Given the description of an element on the screen output the (x, y) to click on. 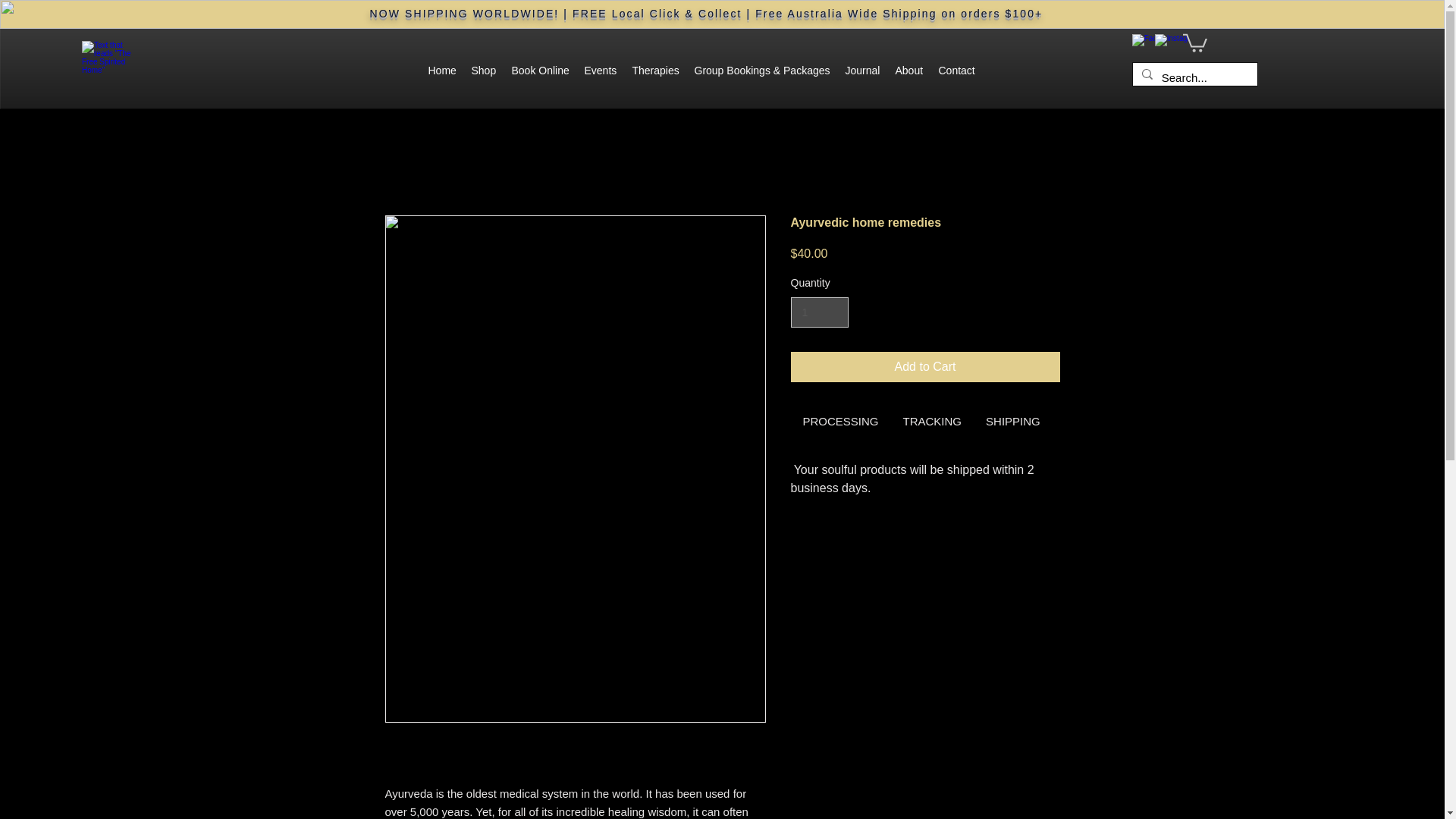
Add to Cart (924, 367)
Use right and left arrows to navigate between tabs (1013, 421)
Use right and left arrows to navigate between tabs (1092, 421)
Therapies (655, 70)
Events (600, 70)
1 (818, 312)
Contact (956, 70)
Use right and left arrows to navigate between tabs (932, 421)
About (908, 70)
Home (441, 70)
